Given the description of an element on the screen output the (x, y) to click on. 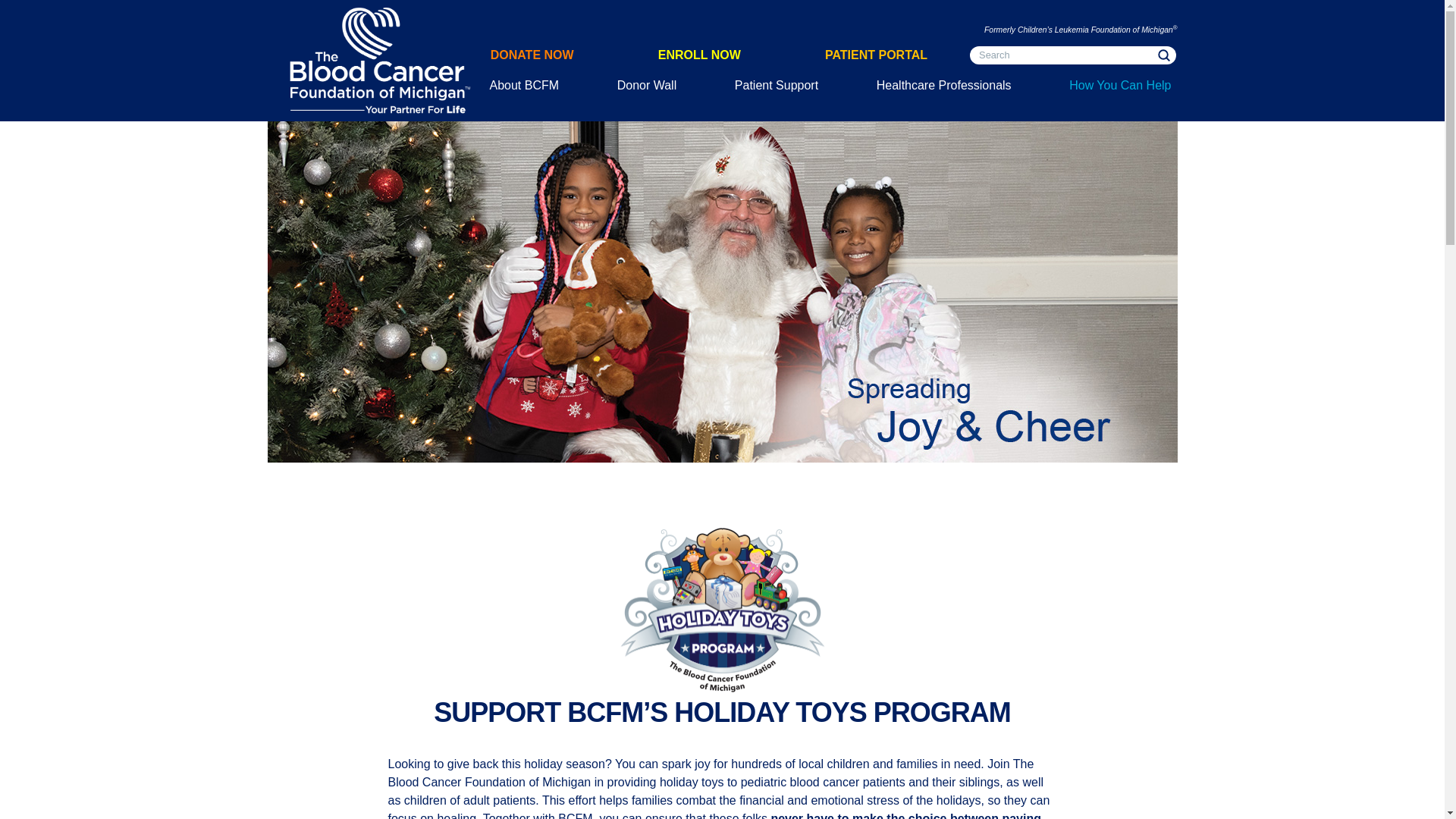
DONATE NOW (531, 55)
ENROLL NOW (699, 55)
PATIENT PORTAL (875, 55)
Submit (1163, 55)
Patient Support (776, 85)
About BCFM (524, 85)
Donor Wall (646, 85)
Healthcare Professionals (943, 85)
How You Can Help (1119, 85)
